Given the description of an element on the screen output the (x, y) to click on. 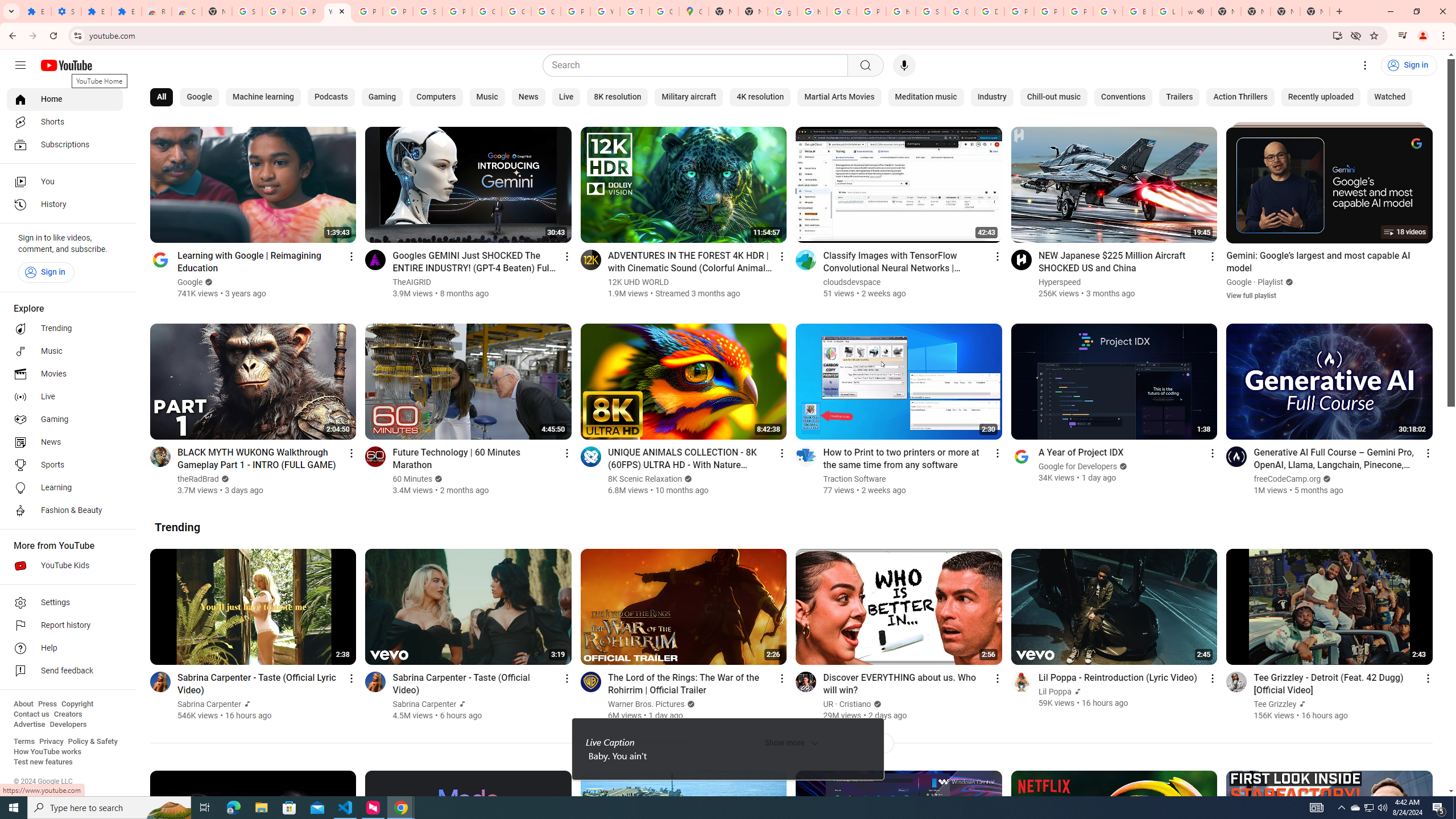
Extensions (126, 11)
Watched (1389, 97)
How YouTube works (47, 751)
Action Thrillers (1240, 97)
Browse Chrome as a guest - Computer - Google Chrome Help (1137, 11)
Traction Software (854, 478)
Google for Developers (1078, 466)
Live (64, 396)
Chrome Web Store - Themes (185, 11)
Hyperspeed (1059, 282)
Sabrina Carpenter (425, 704)
